Given the description of an element on the screen output the (x, y) to click on. 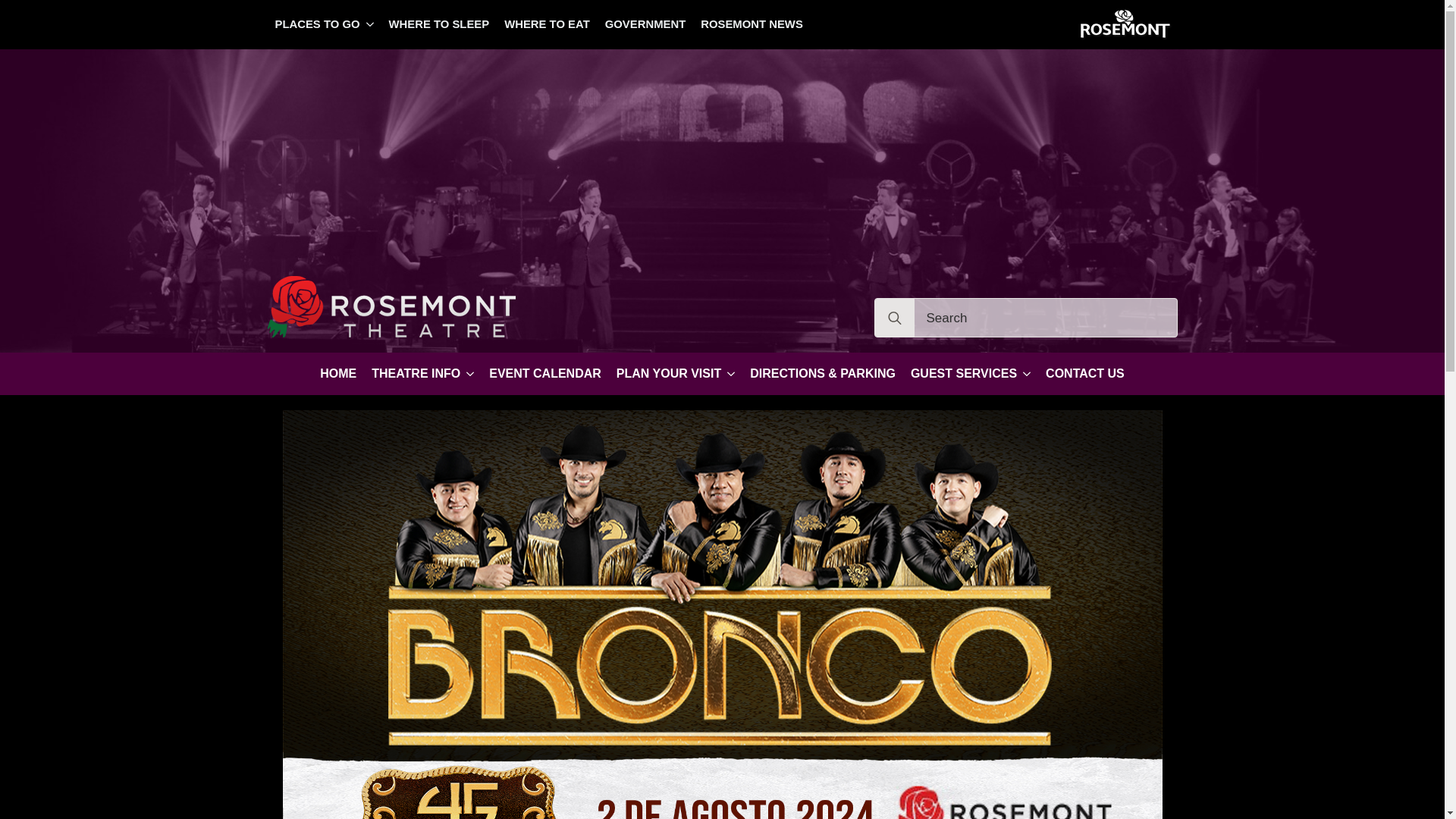
GOVERNMENT (645, 24)
EVENT CALENDAR (544, 373)
GUEST SERVICES (959, 373)
ROSEMONT NEWS (751, 24)
WHERE TO EAT (546, 24)
PLAN YOUR VISIT (664, 373)
CONTACT US (1085, 373)
HOME (338, 373)
PLACES TO GO (312, 24)
WHERE TO SLEEP (439, 24)
